Given the description of an element on the screen output the (x, y) to click on. 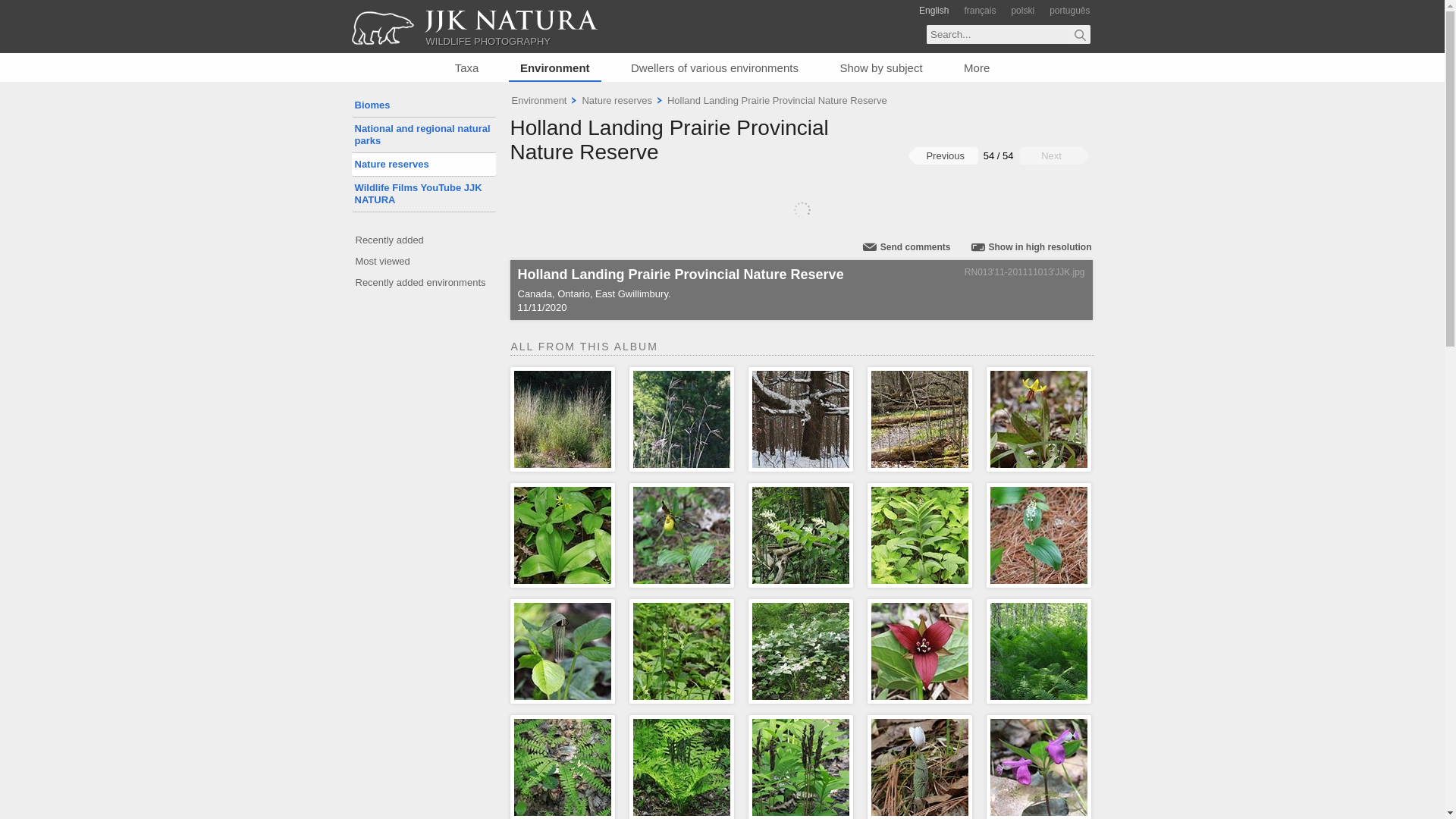
Nature reserves (615, 100)
Environment (554, 67)
Biomes (424, 105)
Holland Landing Prairie Provincial Nature Reserve (668, 139)
National and regional natural parks (424, 134)
Nature reserves (424, 164)
National and regional natural parks (424, 134)
Show by subject (880, 67)
Biomes (424, 105)
Send comments (903, 246)
